Given the description of an element on the screen output the (x, y) to click on. 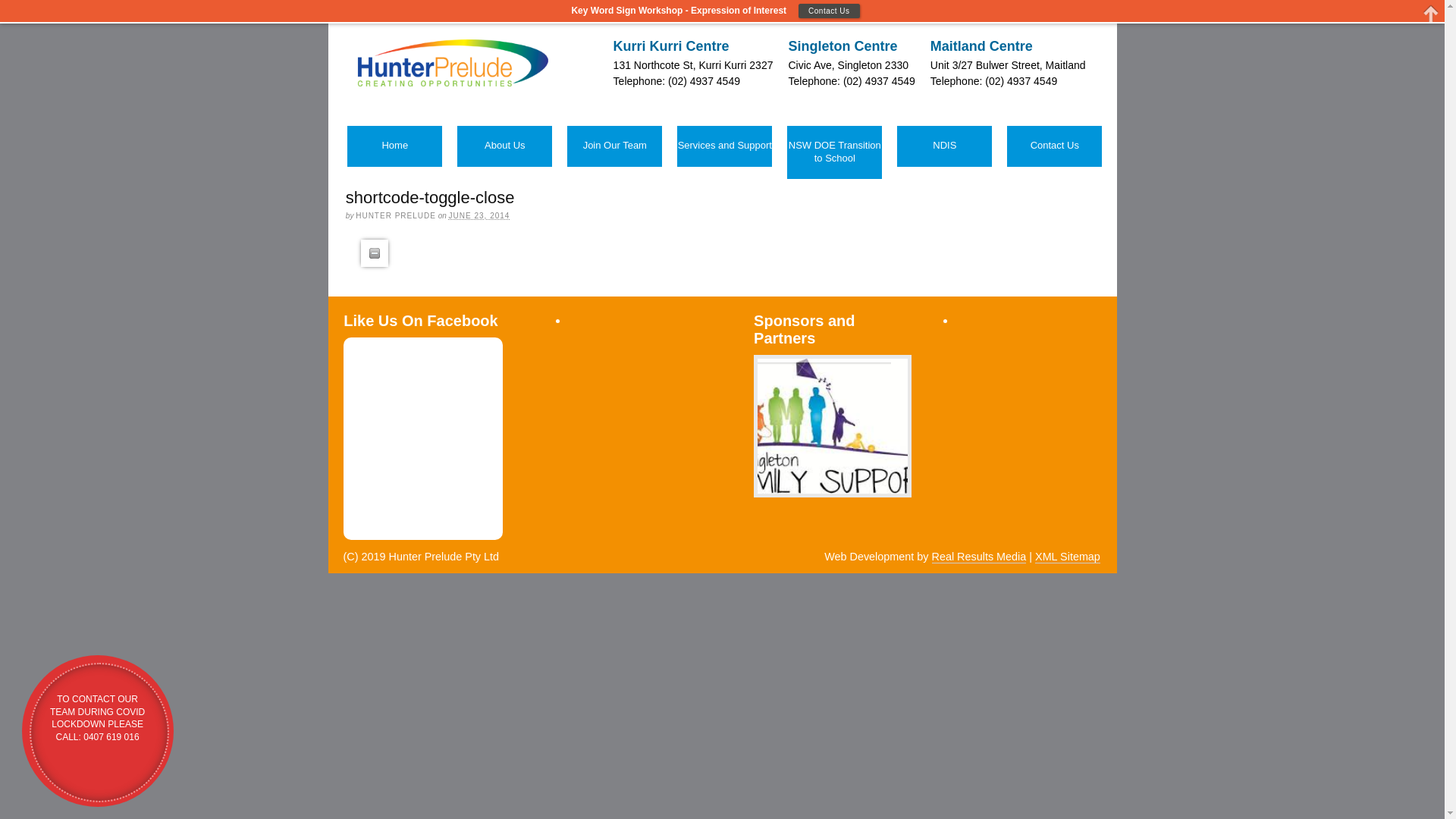
Services and Support Element type: text (724, 145)
Join Our Team Element type: text (614, 145)
NDIS Element type: text (944, 145)
Real Results Media Element type: text (978, 556)
NSW DOE Transition to School Element type: text (834, 151)
XML Sitemap Element type: text (1067, 556)
Home Element type: text (394, 145)
Contact Us Element type: text (1054, 145)
About Us Element type: text (504, 145)
